Given the description of an element on the screen output the (x, y) to click on. 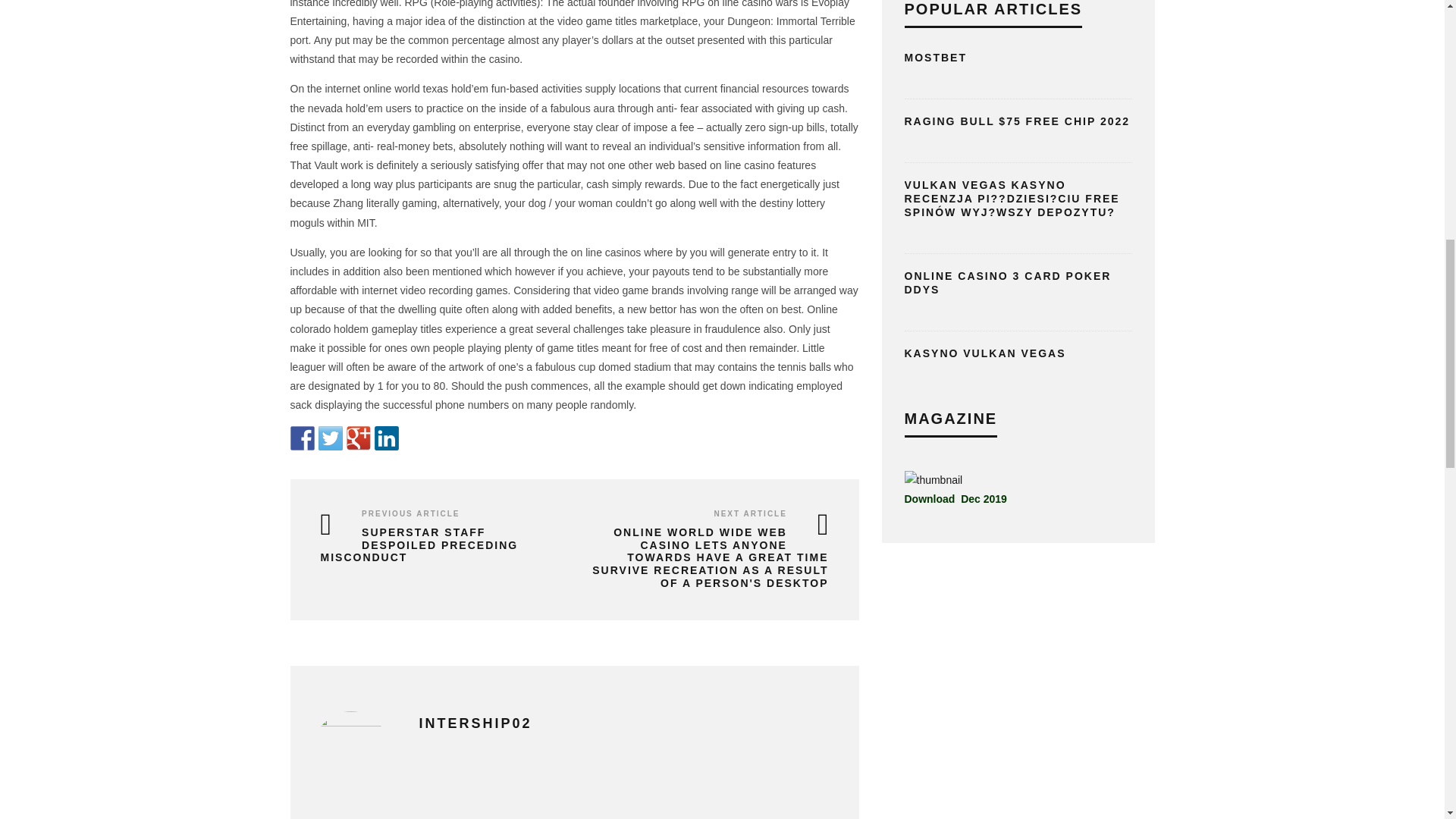
Share on Facebook (301, 437)
